Given the description of an element on the screen output the (x, y) to click on. 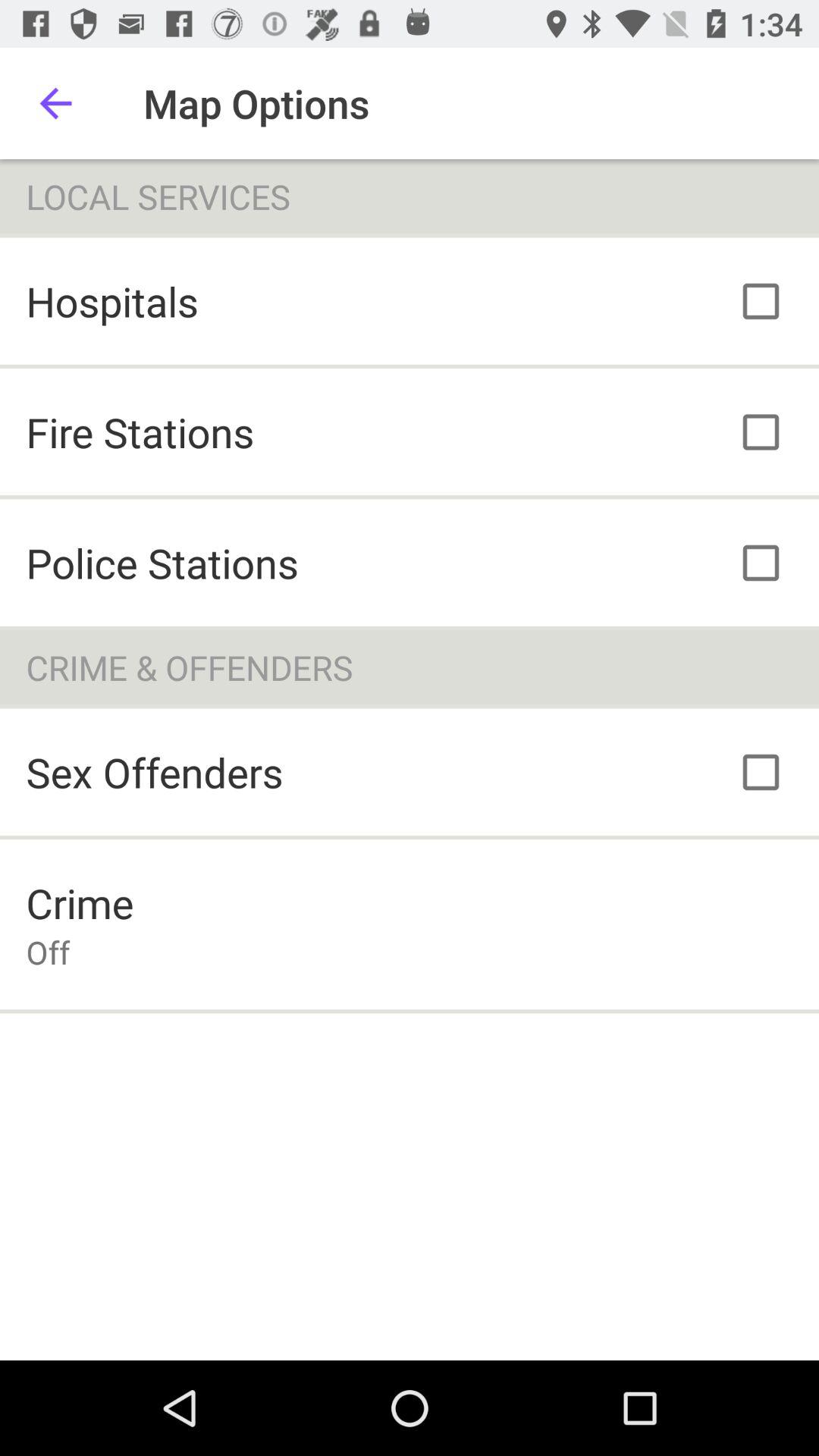
press the icon above police stations icon (140, 431)
